Given the description of an element on the screen output the (x, y) to click on. 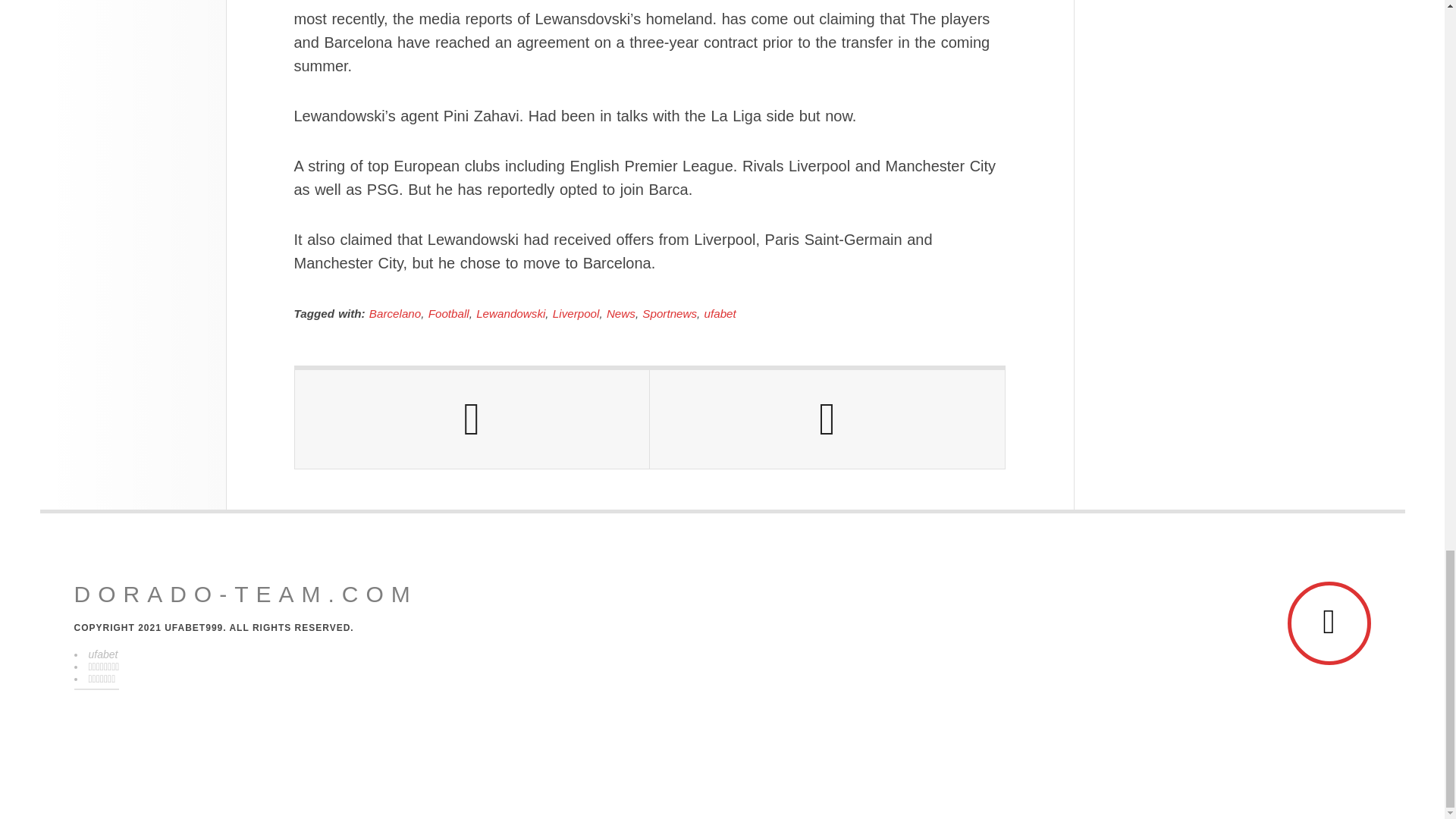
Lewandowski (510, 313)
Football (448, 313)
Sportnews (669, 313)
Next Post (826, 419)
ufabet (720, 313)
Previous Post (471, 419)
News (620, 313)
Barcelano (394, 313)
Liverpool (576, 313)
dorado-team (245, 594)
